Given the description of an element on the screen output the (x, y) to click on. 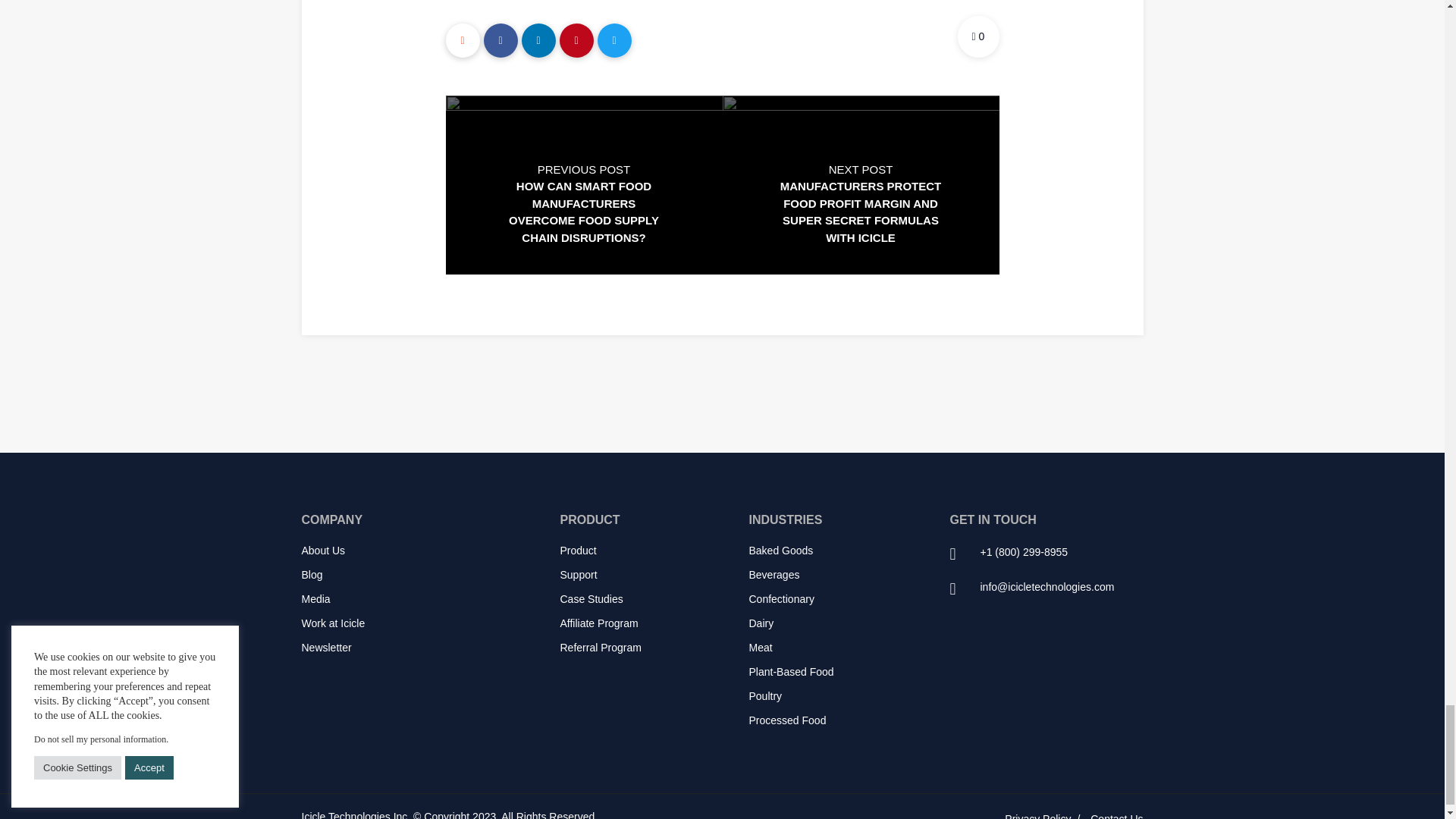
Pinterest (576, 40)
Twitter (613, 40)
Facebook (500, 40)
Linkedin (538, 40)
